Given the description of an element on the screen output the (x, y) to click on. 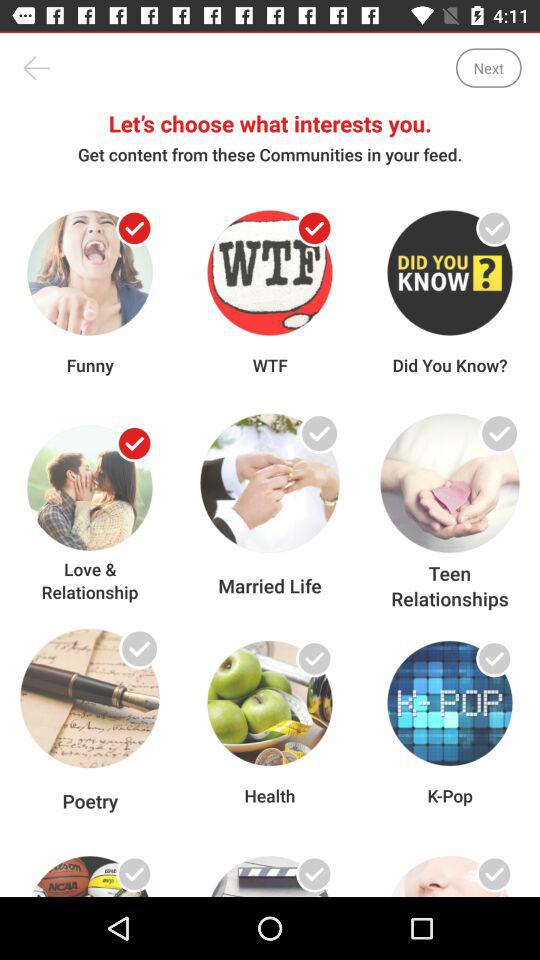
selection check box (134, 658)
